Given the description of an element on the screen output the (x, y) to click on. 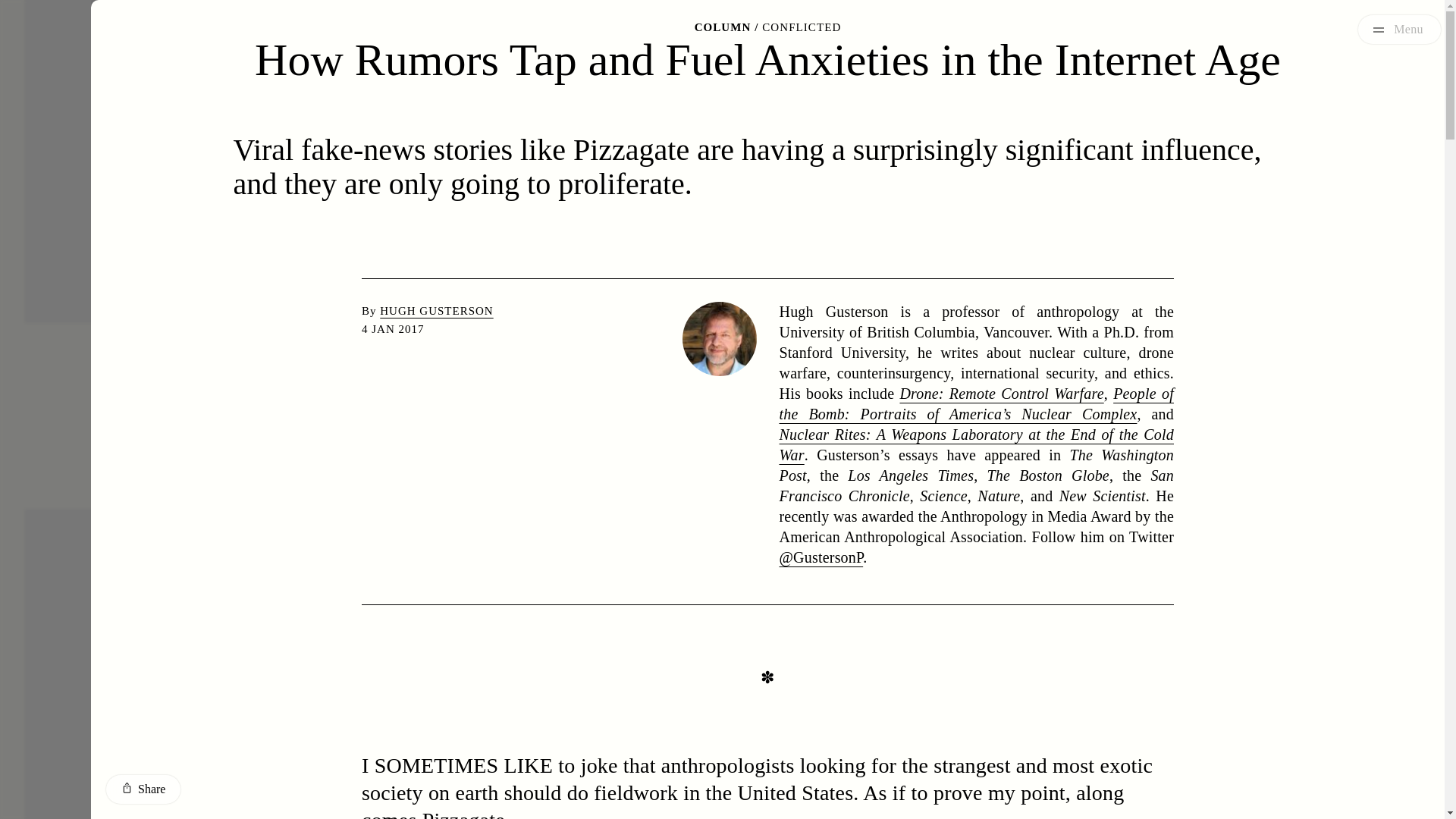
email (767, 180)
